Given the description of an element on the screen output the (x, y) to click on. 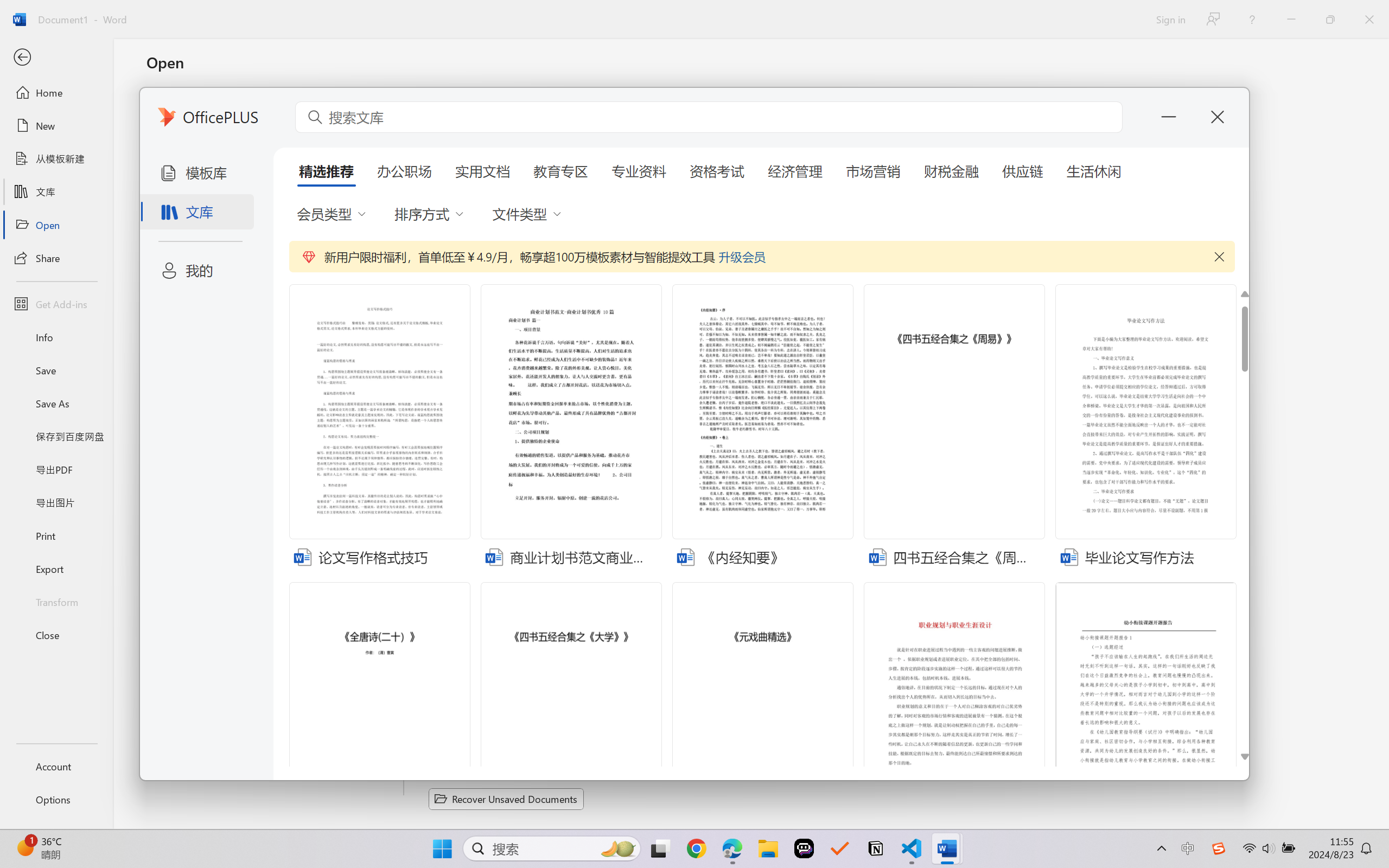
Transform (56, 601)
Export (56, 568)
Sign in (1170, 18)
